Given the description of an element on the screen output the (x, y) to click on. 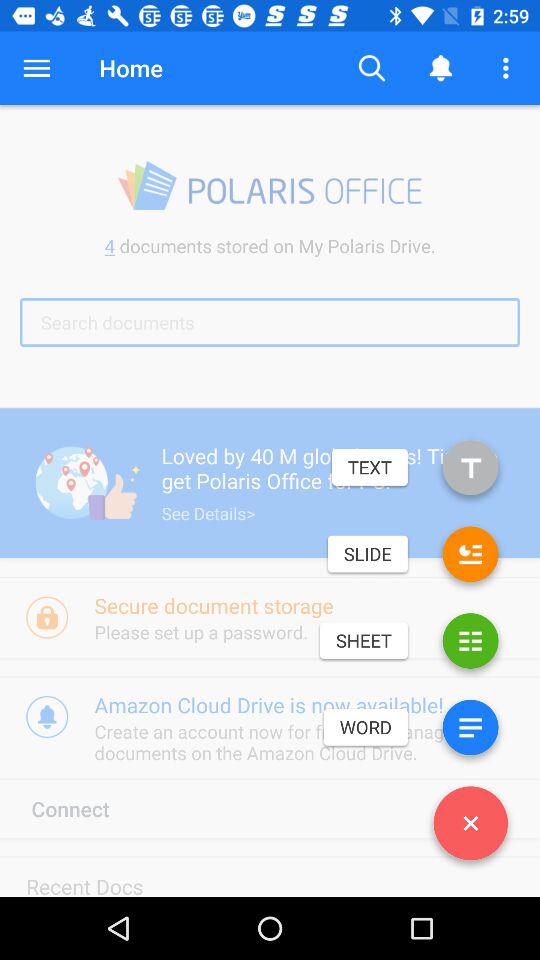
choose the icon below search documents item (470, 471)
